Given the description of an element on the screen output the (x, y) to click on. 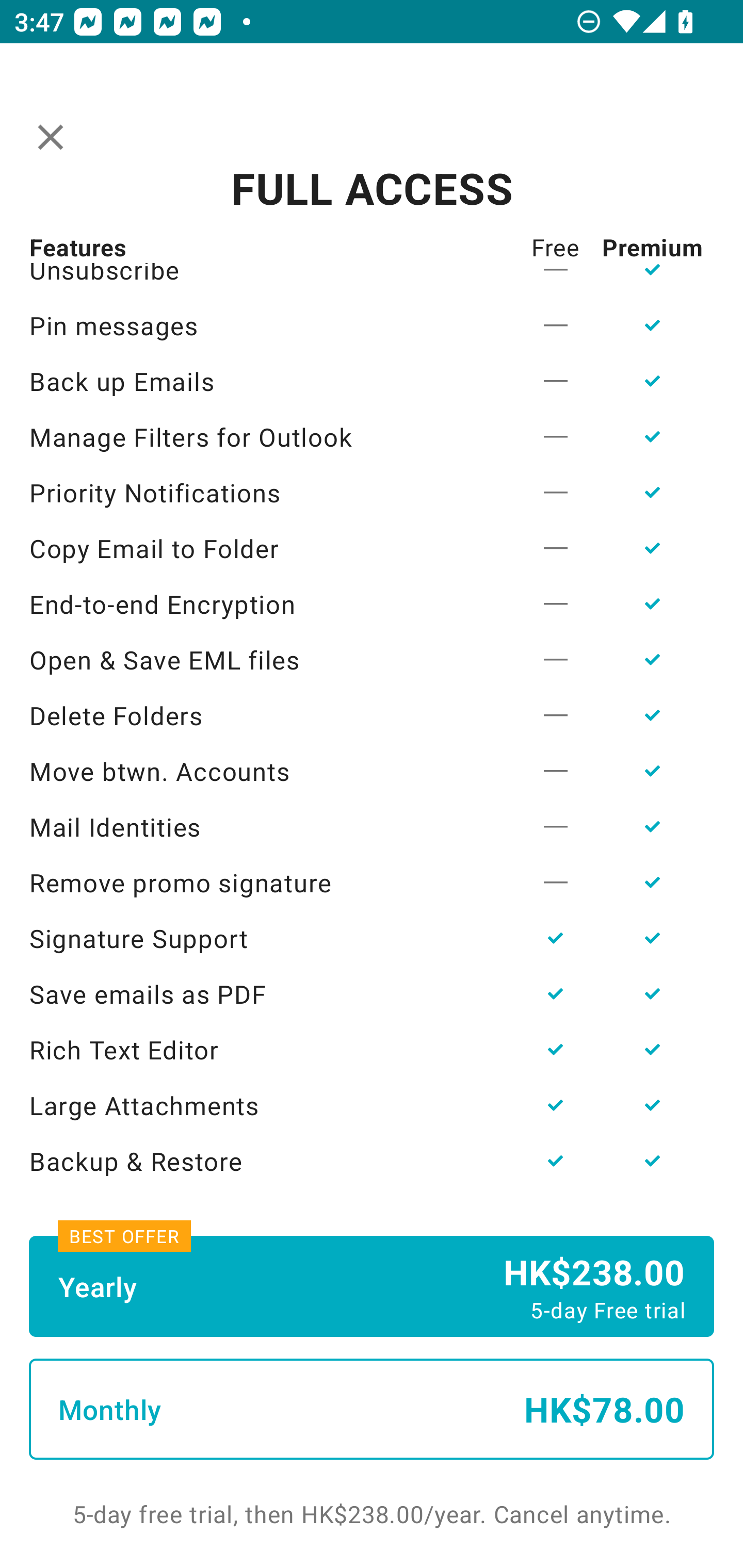
Yearly HK$238.00 5-day Free trial (371, 1286)
Monthly HK$78.00 (371, 1408)
